Given the description of an element on the screen output the (x, y) to click on. 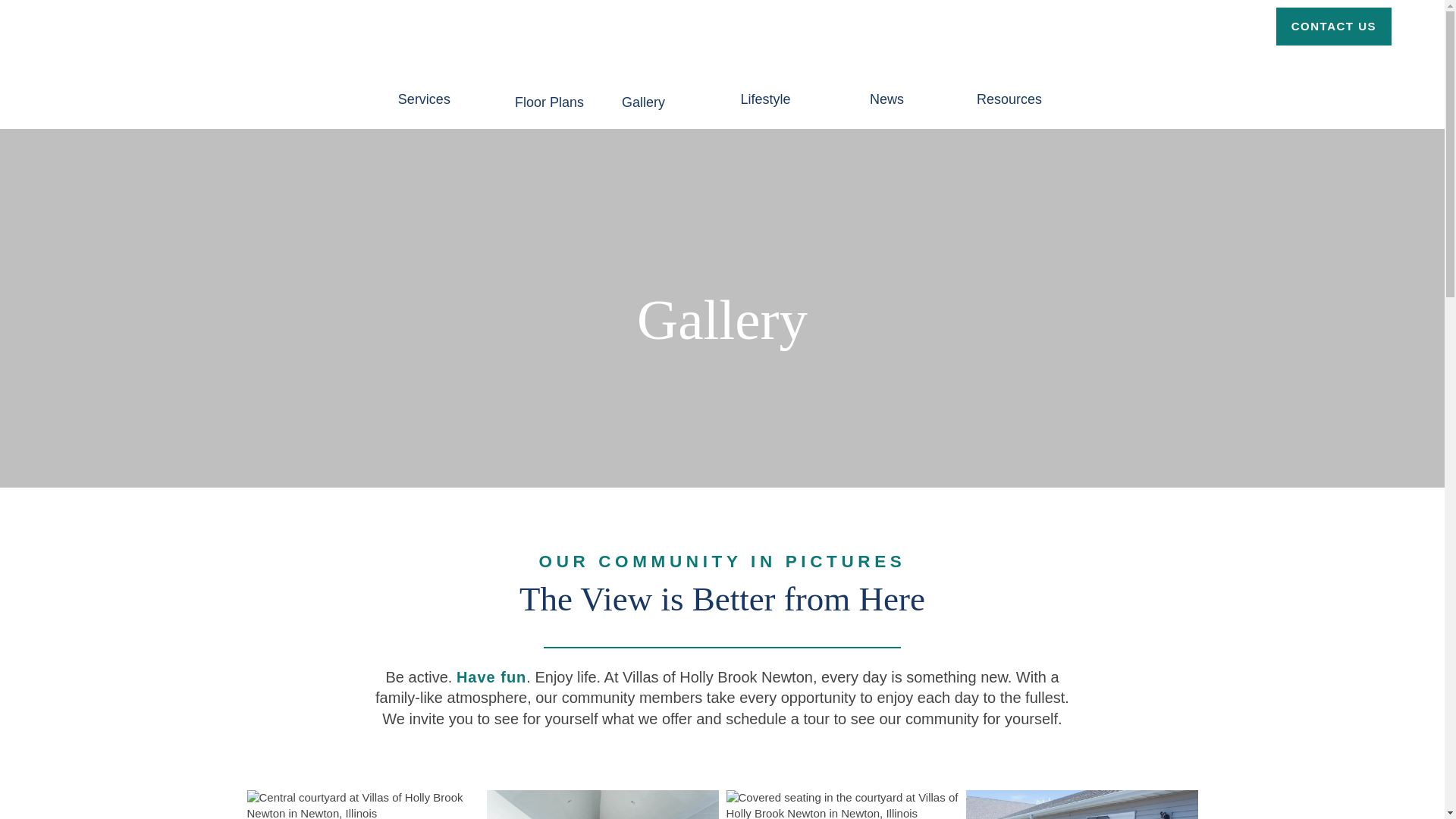
Gallery (643, 90)
News (886, 87)
Resources (1009, 87)
CONTACT US (1333, 26)
Floor Plans (549, 90)
Services (424, 87)
Lifestyle (765, 87)
Have fun (491, 677)
